Given the description of an element on the screen output the (x, y) to click on. 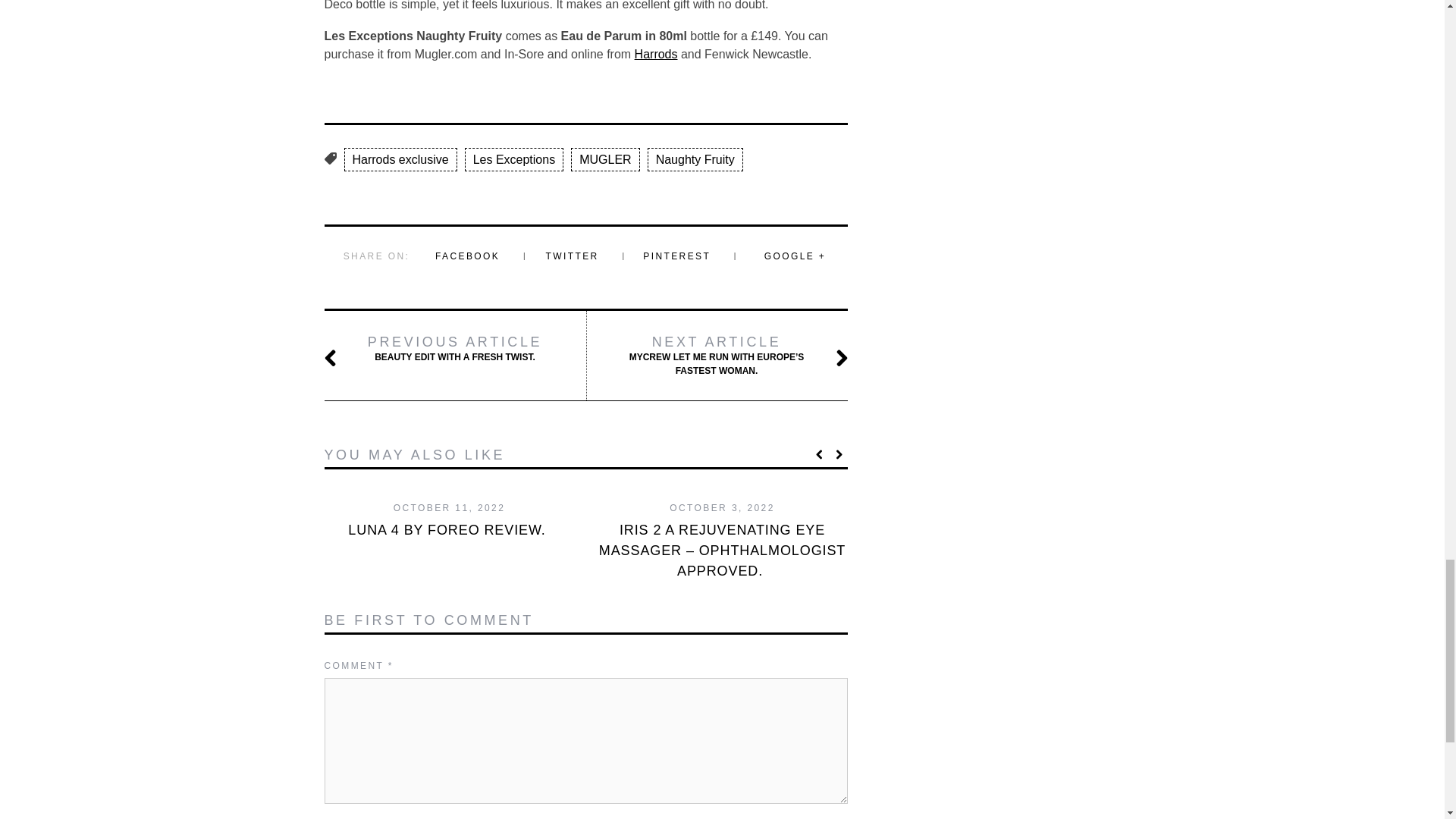
Naughty Fruity (694, 159)
PINTEREST (676, 255)
TWITTER (572, 255)
MUGLER (604, 159)
FACEBOOK (467, 255)
Harrods exclusive (400, 159)
Les Exceptions (514, 159)
Harrods (454, 348)
LUNA 4 BY FOREO REVIEW.  (656, 53)
